Given the description of an element on the screen output the (x, y) to click on. 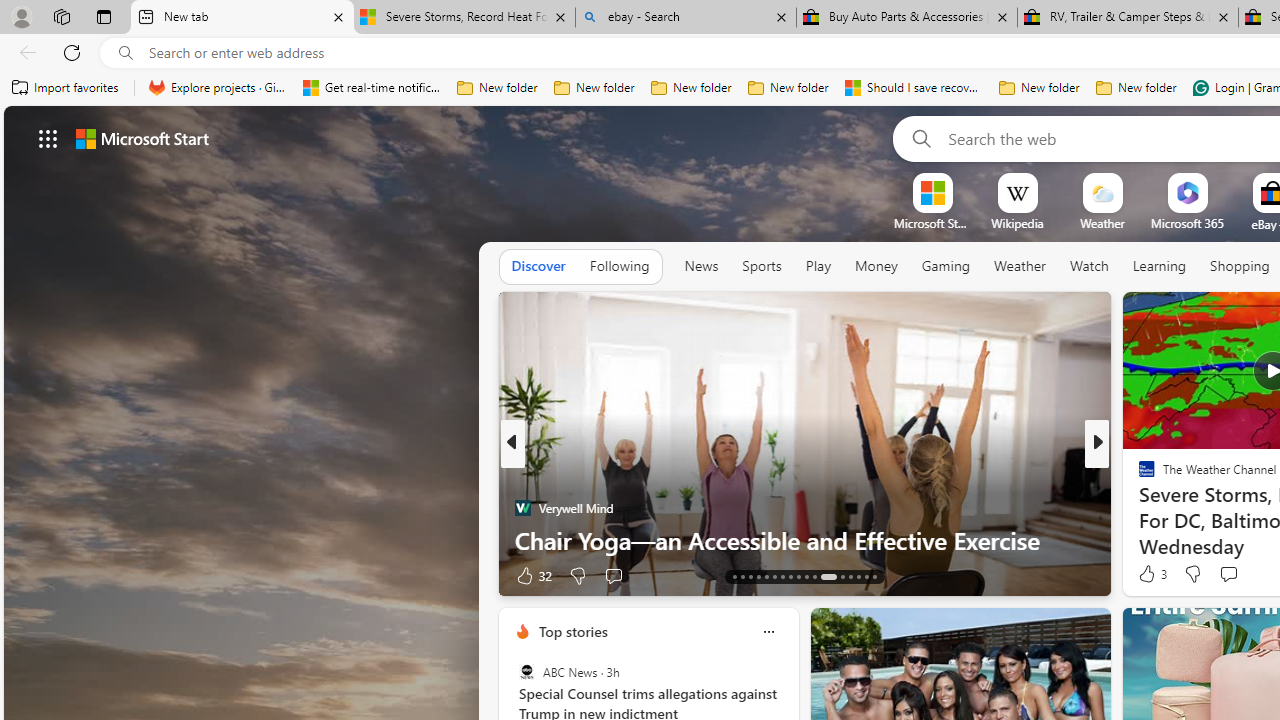
NBC News (1138, 475)
Play (817, 265)
AutomationID: tab-17 (765, 576)
AutomationID: tab-25 (842, 576)
Import favorites (65, 88)
AutomationID: tab-16 (757, 576)
View comments 1 Comment (1241, 574)
Microsoft start (142, 138)
Shopping (1240, 265)
Buy Auto Parts & Accessories | eBay (907, 17)
TheStreet (1138, 507)
Dailymotion (1138, 507)
